Given the description of an element on the screen output the (x, y) to click on. 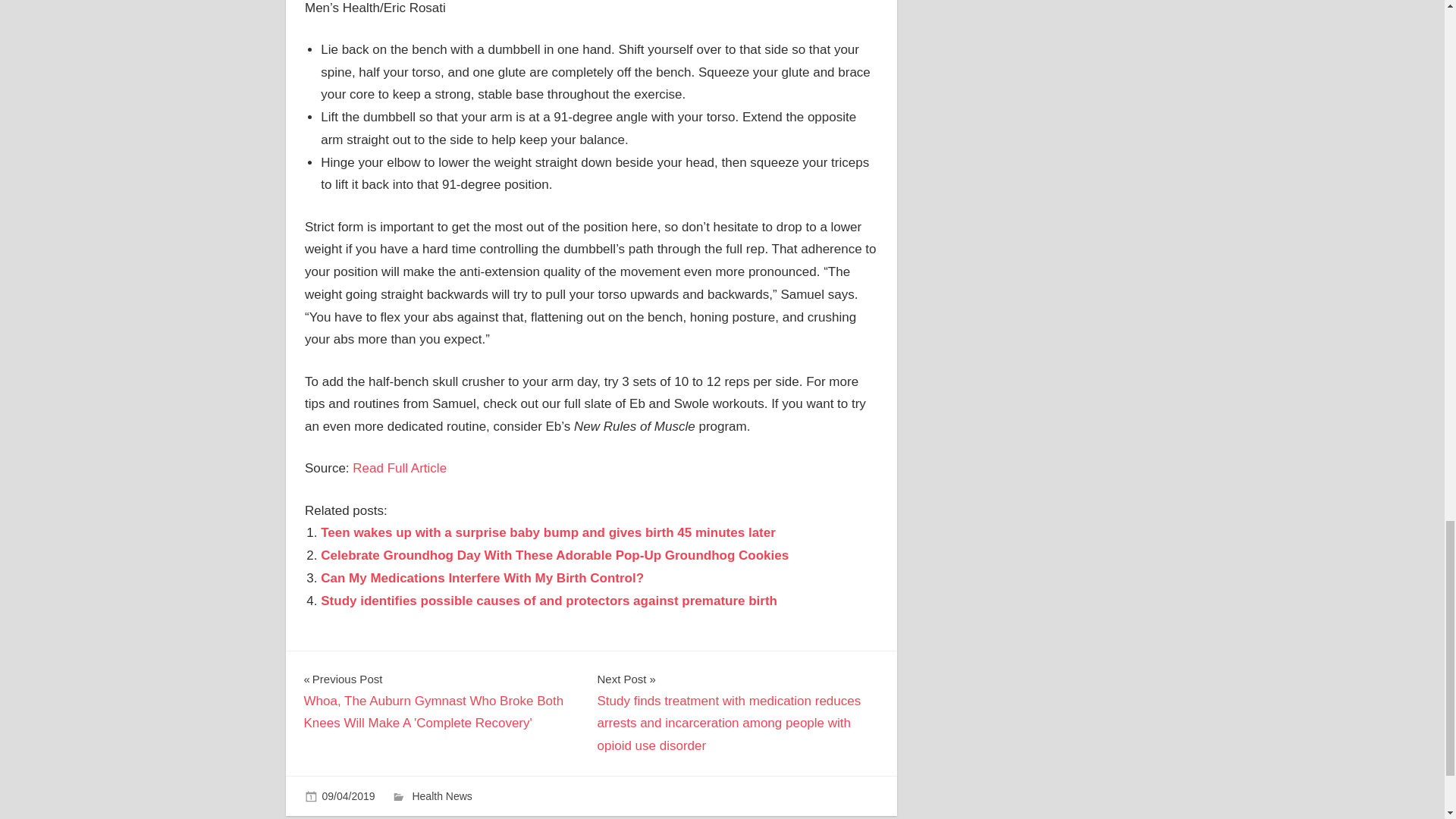
Can My Medications Interfere With My Birth Control? (481, 577)
Health News (441, 796)
Can My Medications Interfere With My Birth Control? (481, 577)
6:08 pm (347, 796)
Read Full Article (399, 468)
